Given the description of an element on the screen output the (x, y) to click on. 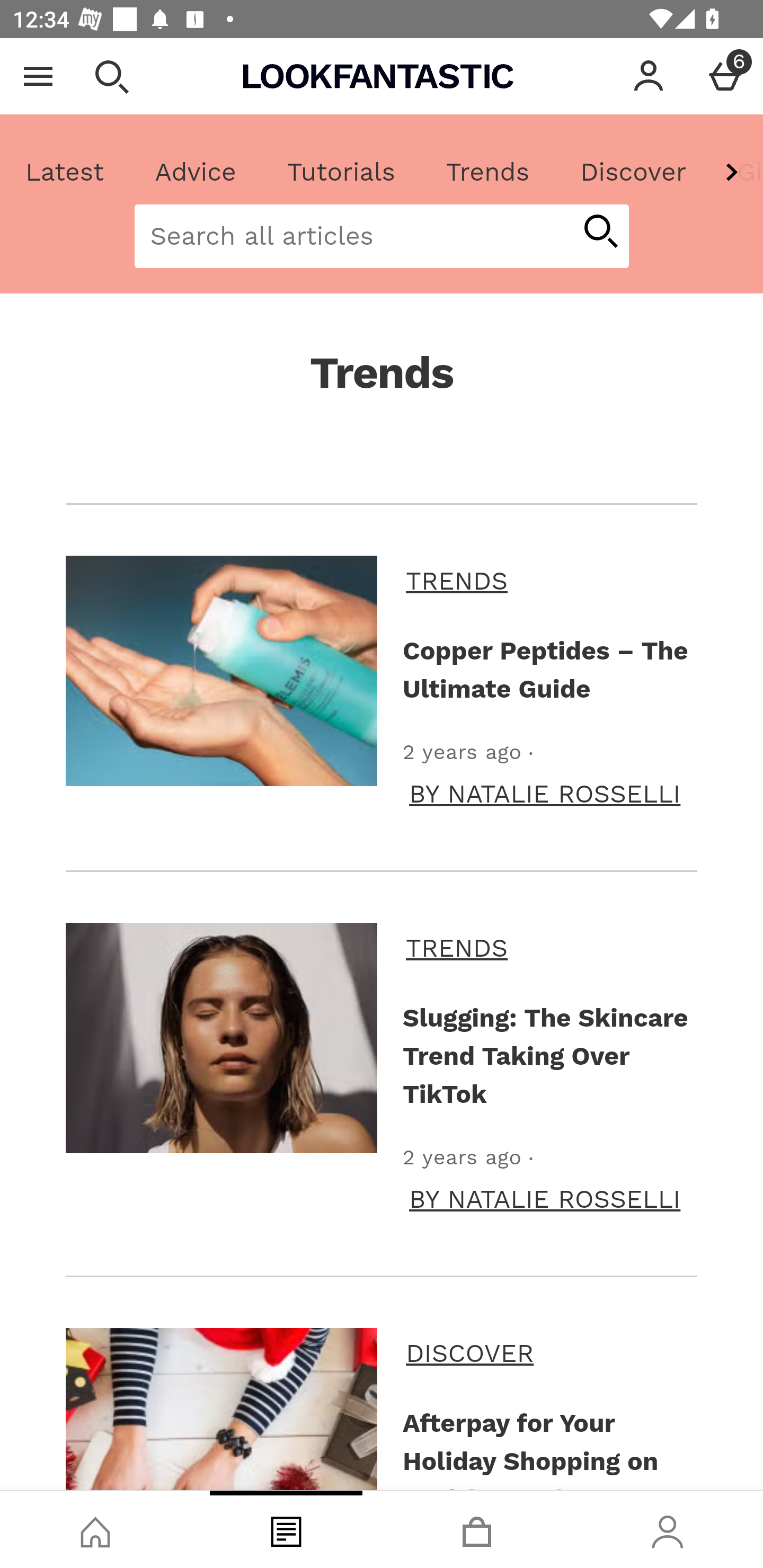
Open Menu (38, 75)
Open search (111, 75)
Account (648, 75)
Basket Menu (724, 75)
Latest (65, 172)
Advice (195, 172)
Tutorials (340, 172)
Trends (486, 172)
Discover (632, 172)
Gift Guide (736, 172)
start article search (599, 232)
Copper Peptides – The Ultimate Guide (221, 671)
TRENDS (548, 580)
Copper Peptides – The Ultimate Guide (546, 669)
BY NATALIE ROSSELLI (545, 794)
Slugging: The Skincare Trend Taking Over TikTok (221, 1037)
TRENDS (548, 947)
Slugging: The Skincare Trend Taking Over TikTok (546, 1055)
BY NATALIE ROSSELLI (545, 1198)
DISCOVER (548, 1352)
Shop, tab, 1 of 4 (95, 1529)
Blog, tab, 2 of 4 (285, 1529)
Basket, tab, 3 of 4 (476, 1529)
Account, tab, 4 of 4 (667, 1529)
